Given the description of an element on the screen output the (x, y) to click on. 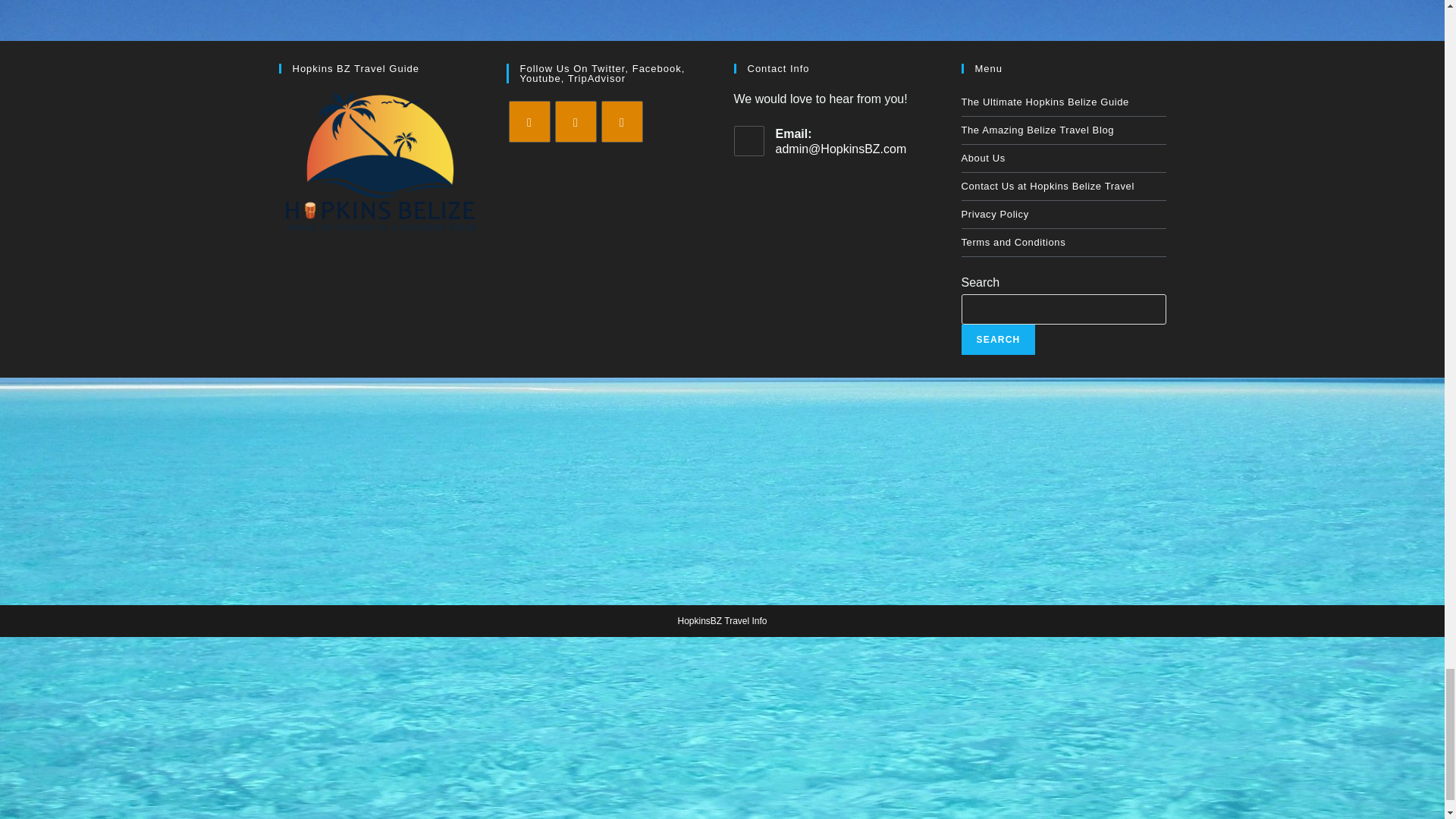
Contact Us at Hopkins Belize Travel (1063, 185)
The Amazing Belize Travel Blog (1063, 130)
About Us (1063, 157)
The Ultimate Hopkins Belize Guide (1063, 102)
